Given the description of an element on the screen output the (x, y) to click on. 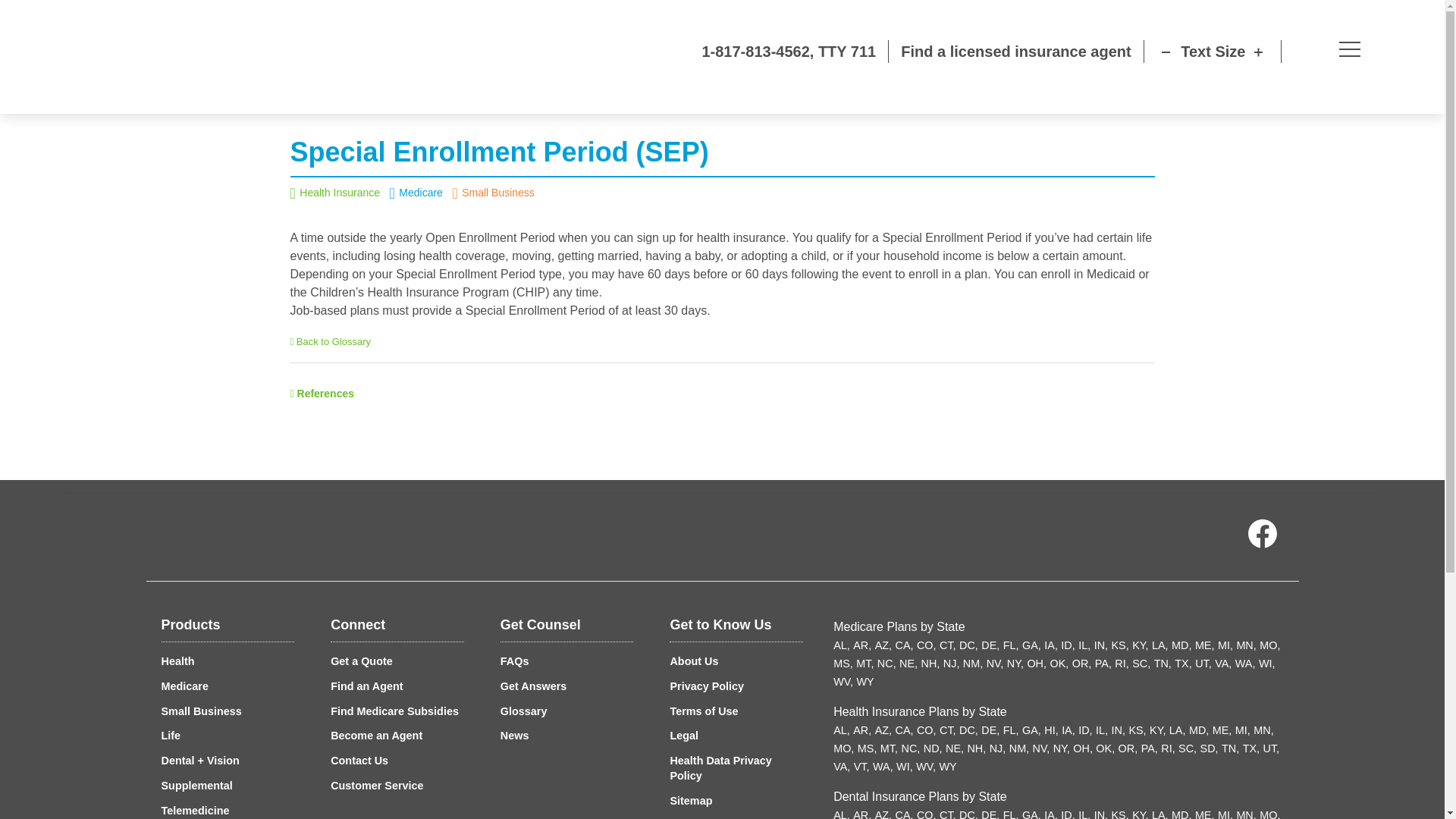
Small Business (497, 192)
Find a licensed insurance agent (1016, 51)
Medicare Insurance Plans in Illinois (1084, 645)
1-817-813-4562, TTY 711 (671, 51)
Small Business (497, 192)
Health (176, 661)
Back to Glossary (330, 341)
Go to Healthmarkets.com (140, 56)
Medicare Insurance Plans in Kansas (1120, 645)
Health Insurance (339, 192)
Small Business (200, 711)
Medicare Insurance Plans in Arkansas (861, 645)
Medicare (184, 686)
Medicare (420, 192)
Medicare Insurance Plans in Iowa (1050, 645)
